Given the description of an element on the screen output the (x, y) to click on. 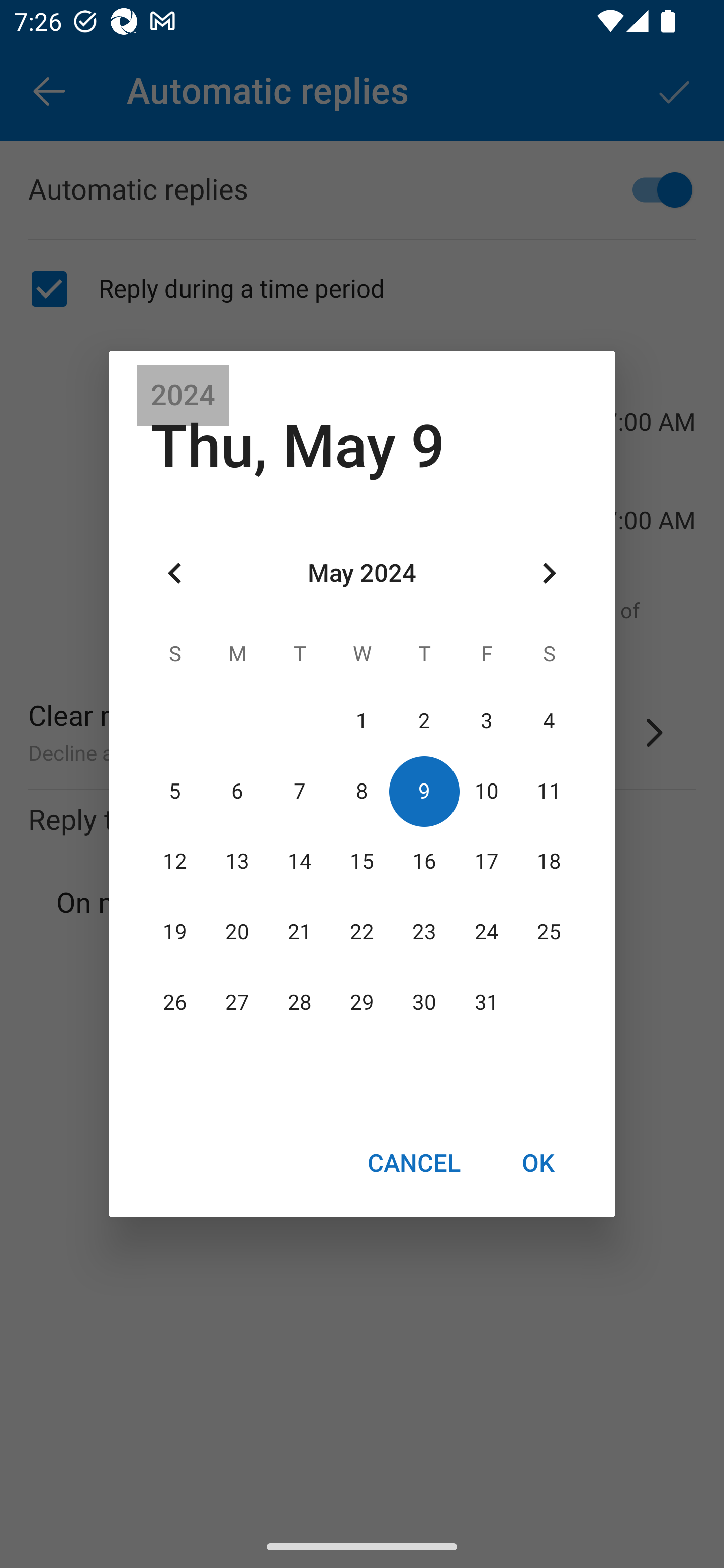
2024 (182, 395)
Thu, May 9 (297, 446)
Previous month (174, 573)
Next month (548, 573)
1 01 May 2024 (361, 720)
2 02 May 2024 (424, 720)
3 03 May 2024 (486, 720)
4 04 May 2024 (548, 720)
5 05 May 2024 (175, 790)
6 06 May 2024 (237, 790)
7 07 May 2024 (299, 790)
8 08 May 2024 (361, 790)
9 09 May 2024 (424, 790)
10 10 May 2024 (486, 790)
11 11 May 2024 (548, 790)
12 12 May 2024 (175, 861)
13 13 May 2024 (237, 861)
14 14 May 2024 (299, 861)
15 15 May 2024 (361, 861)
16 16 May 2024 (424, 861)
17 17 May 2024 (486, 861)
18 18 May 2024 (548, 861)
19 19 May 2024 (175, 931)
20 20 May 2024 (237, 931)
21 21 May 2024 (299, 931)
22 22 May 2024 (361, 931)
23 23 May 2024 (424, 931)
24 24 May 2024 (486, 931)
25 25 May 2024 (548, 931)
26 26 May 2024 (175, 1002)
27 27 May 2024 (237, 1002)
28 28 May 2024 (299, 1002)
29 29 May 2024 (361, 1002)
30 30 May 2024 (424, 1002)
31 31 May 2024 (486, 1002)
CANCEL (413, 1162)
OK (537, 1162)
